Given the description of an element on the screen output the (x, y) to click on. 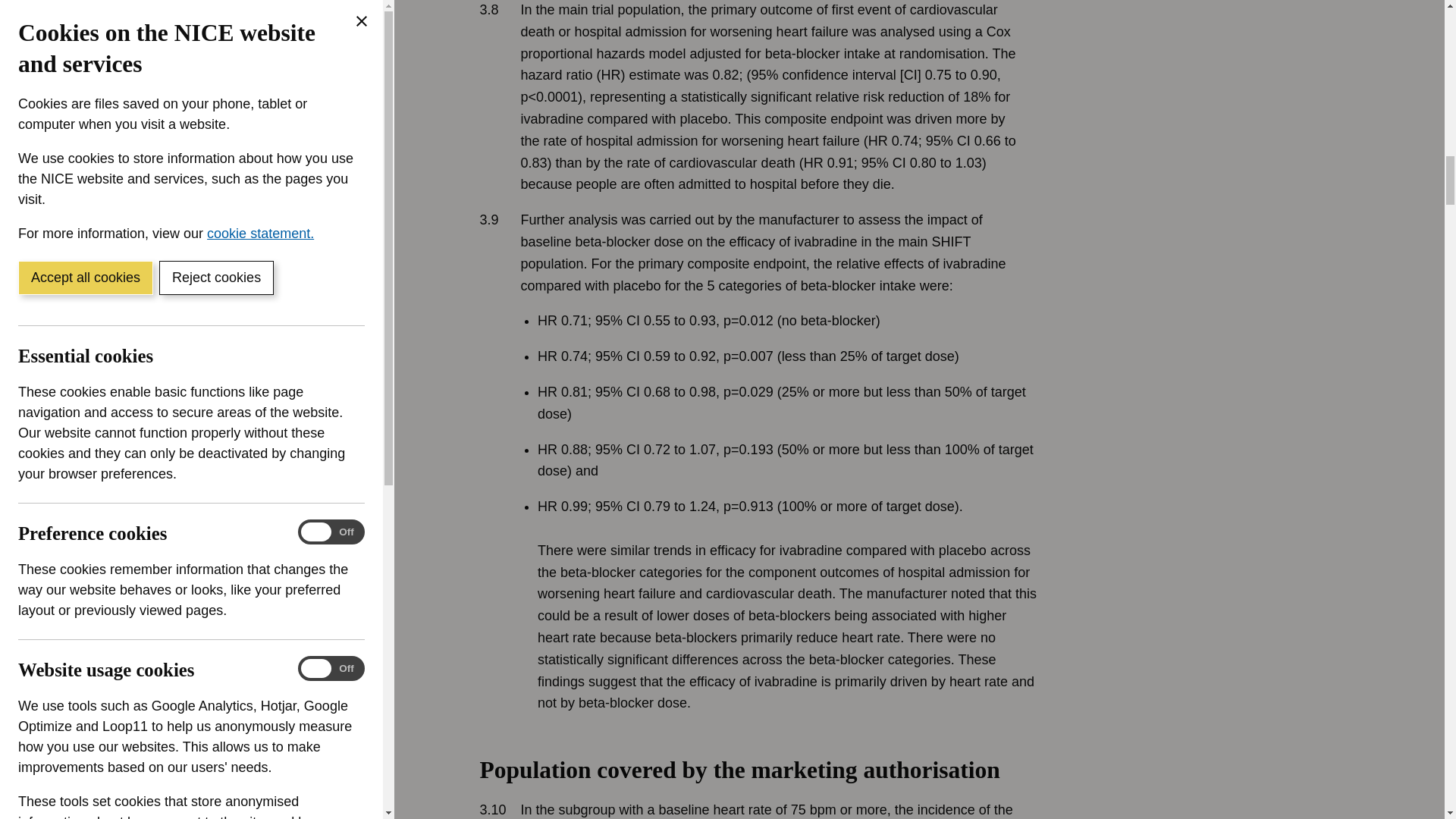
Population covered by the marketing authorisation (850, 787)
